Given the description of an element on the screen output the (x, y) to click on. 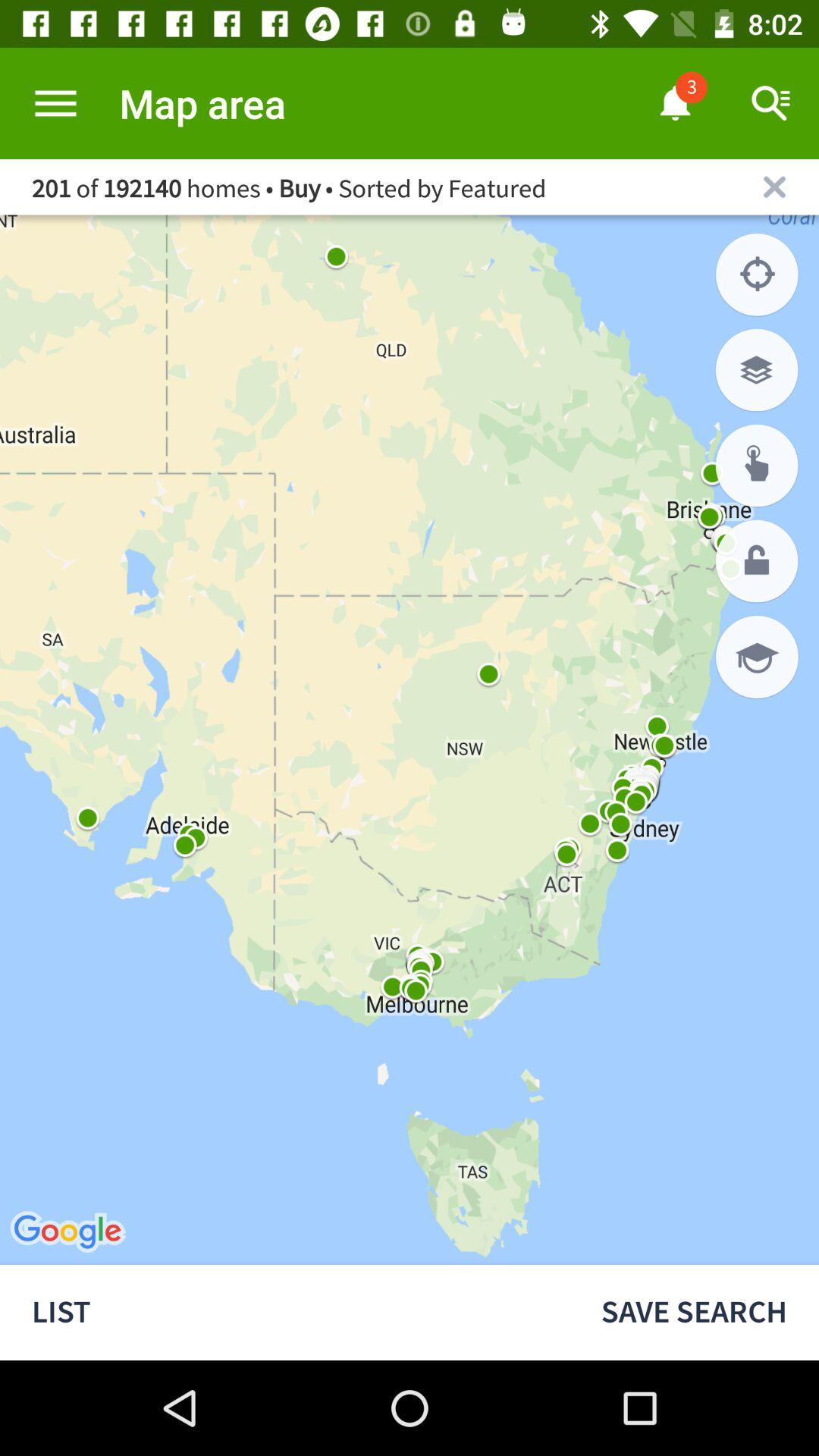
pinpoint user location (756, 274)
